Given the description of an element on the screen output the (x, y) to click on. 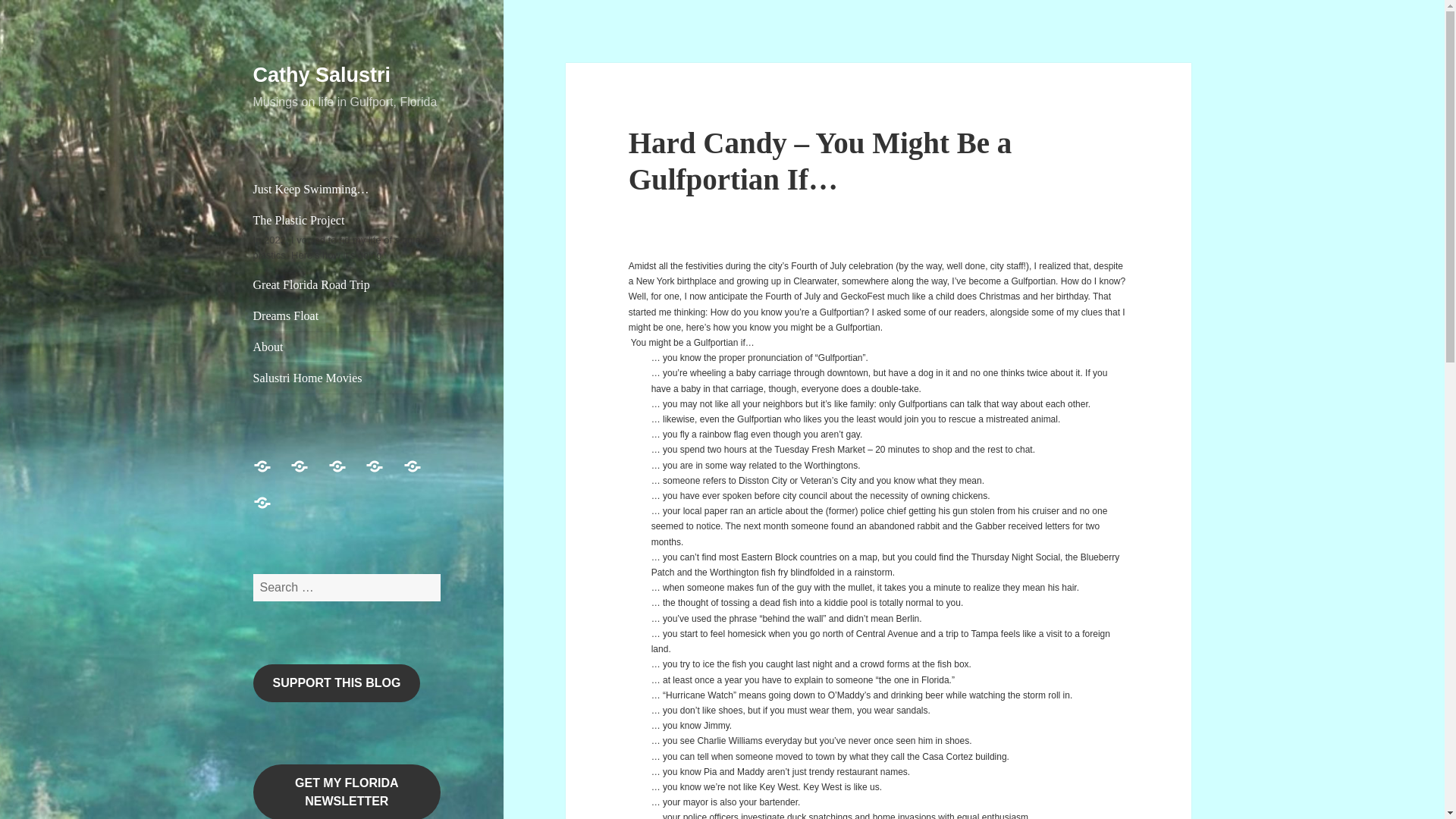
Cathy Salustri, Florida writer (347, 347)
Cathy Salustri casual photography (383, 475)
The Plastic Project (347, 237)
GET MY FLORIDA NEWSLETTER (347, 791)
Dreams Float (347, 316)
Florida road trips and adventures (347, 285)
Florida road trips and adventures (347, 475)
Salustri Home Movies (347, 378)
Cathy Salustri, Florida writer (421, 475)
The Plastic Project (307, 475)
Cathy Salustri casual photography (347, 316)
About (347, 347)
